Given the description of an element on the screen output the (x, y) to click on. 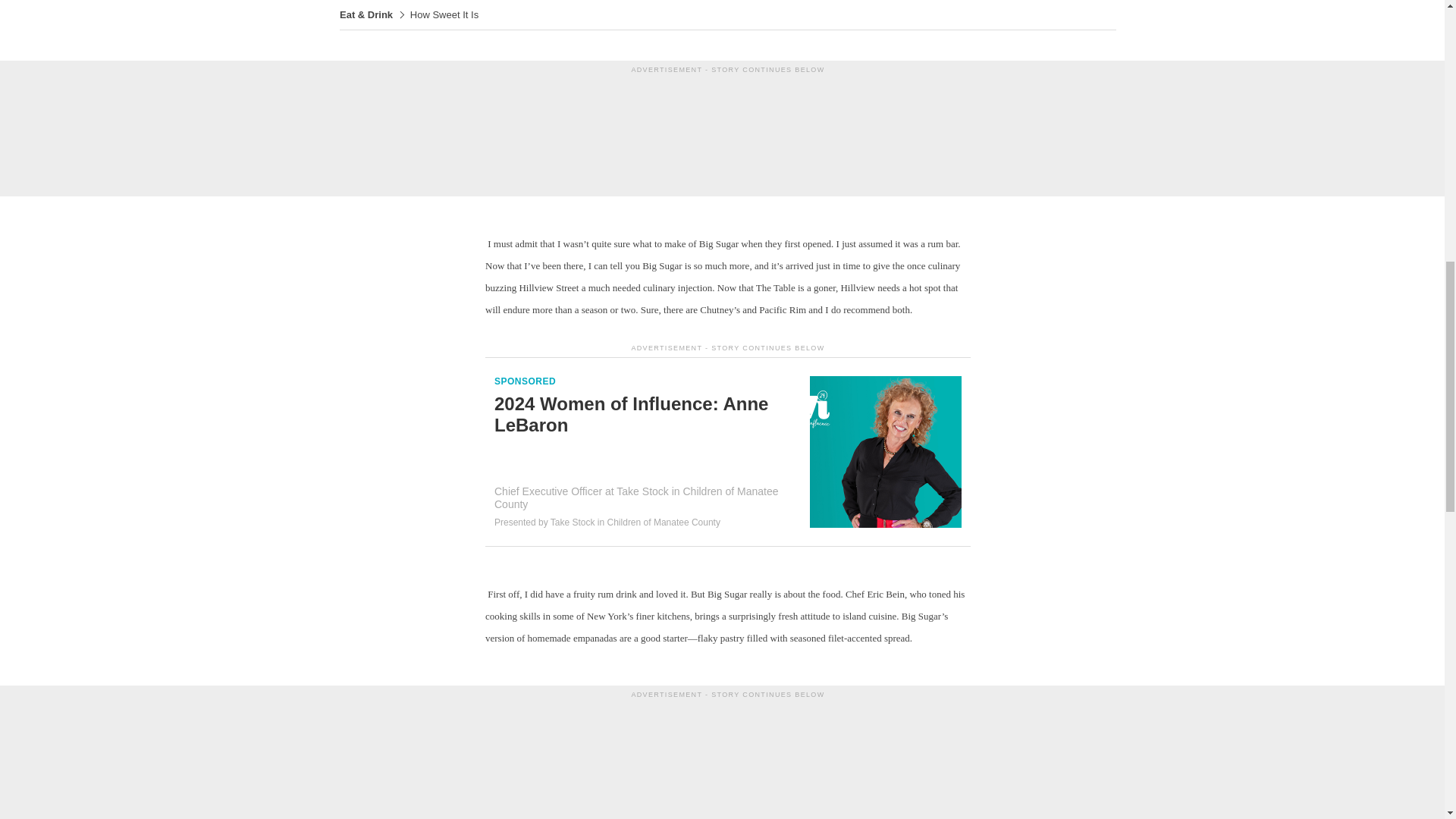
3rd party ad content (727, 756)
3rd party ad content (727, 131)
